Given the description of an element on the screen output the (x, y) to click on. 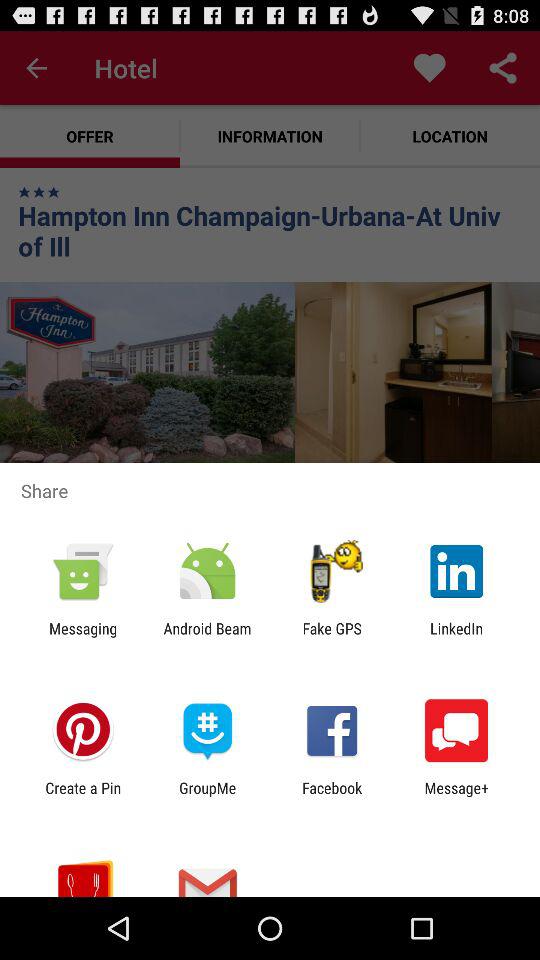
turn on linkedin item (456, 637)
